Given the description of an element on the screen output the (x, y) to click on. 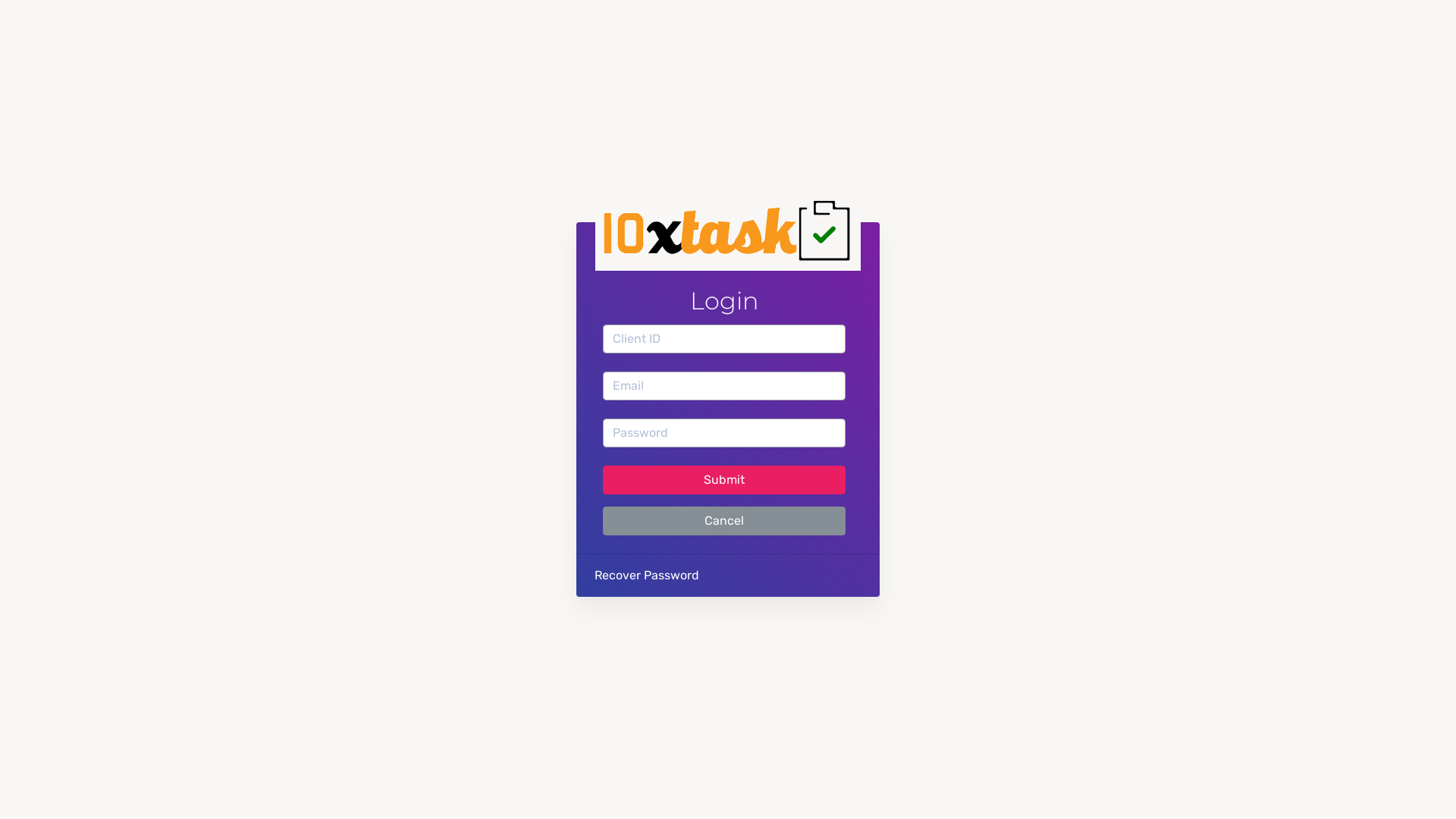
Cancel Element type: text (723, 520)
Submit Element type: text (723, 479)
Recover Password Element type: text (646, 574)
